Given the description of an element on the screen output the (x, y) to click on. 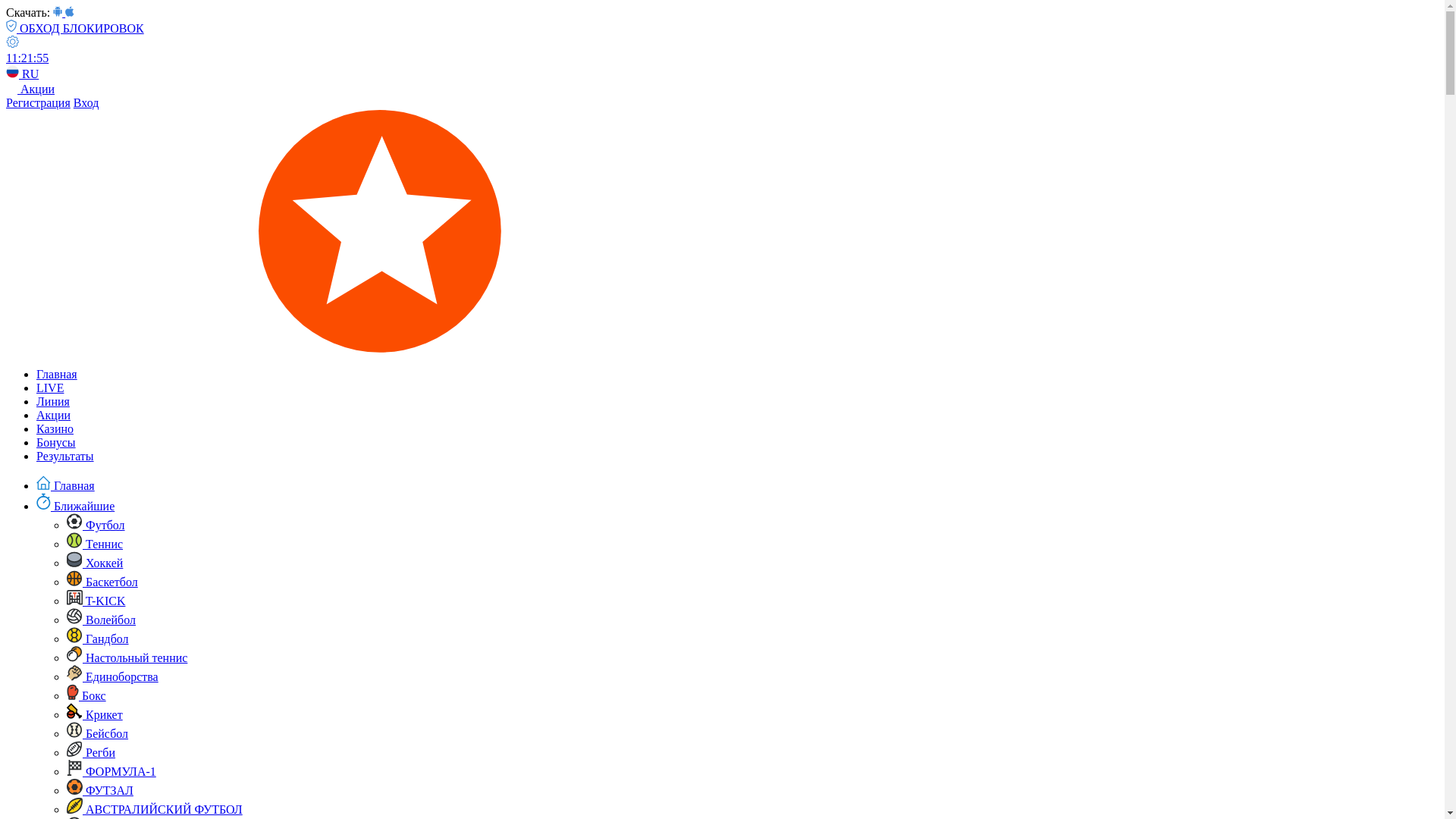
T-KICK Element type: text (95, 600)
LIVE Element type: text (49, 387)
RU Element type: text (22, 73)
11:21:53 Element type: text (722, 72)
